Given the description of an element on the screen output the (x, y) to click on. 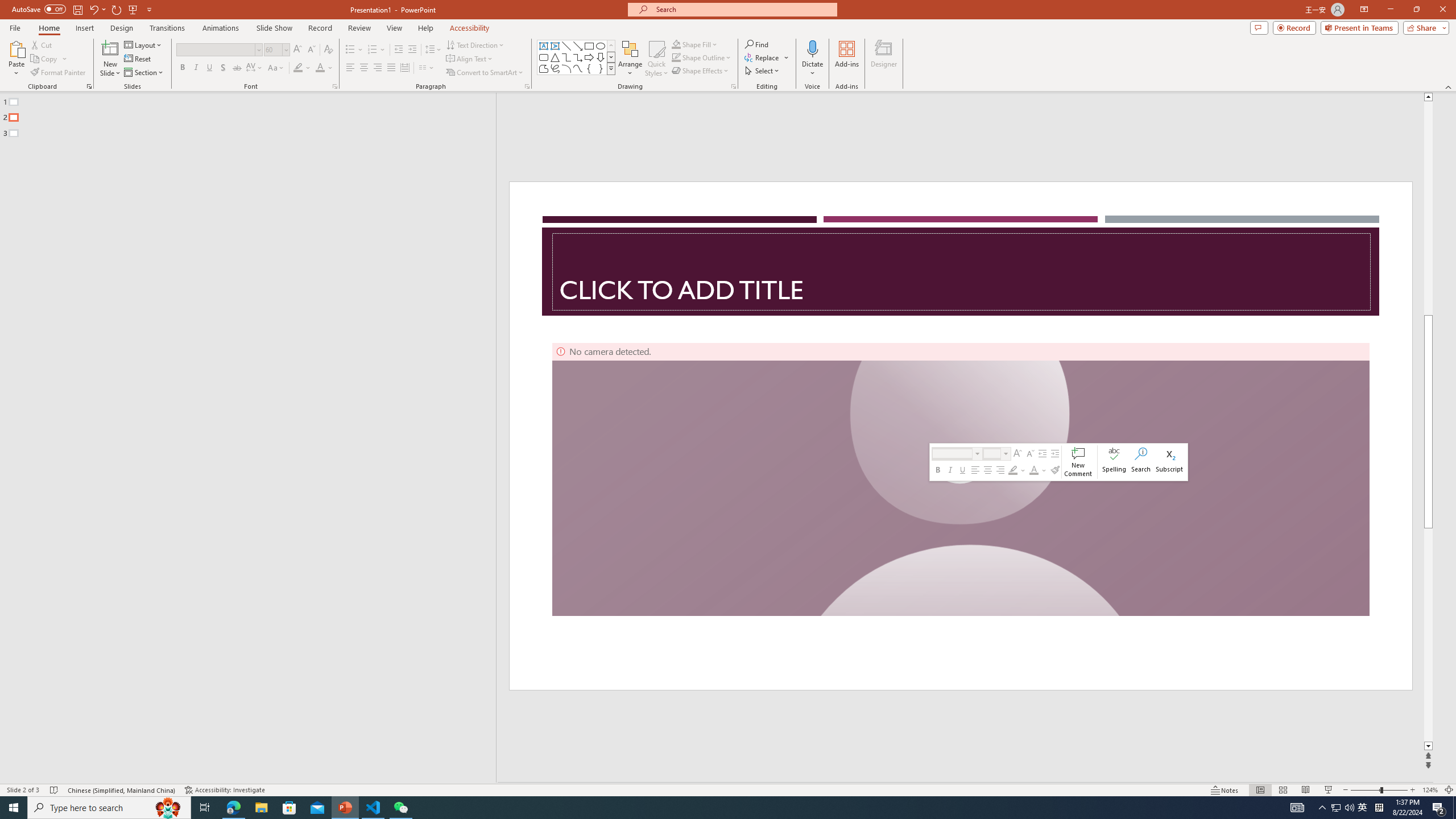
Decrease Font Size (310, 49)
Class: NetUIToolWindow (1058, 462)
Text Highlight Color (302, 67)
System (6, 6)
Restore Down (1416, 9)
Left Brace (589, 68)
Dictate (812, 48)
Copy (49, 58)
Format Object... (733, 85)
Connector: Elbow Arrow (577, 57)
Arrow: Down (600, 57)
Connector: Elbow (566, 57)
Clear Formatting (327, 49)
Transitions (167, 28)
